Given the description of an element on the screen output the (x, y) to click on. 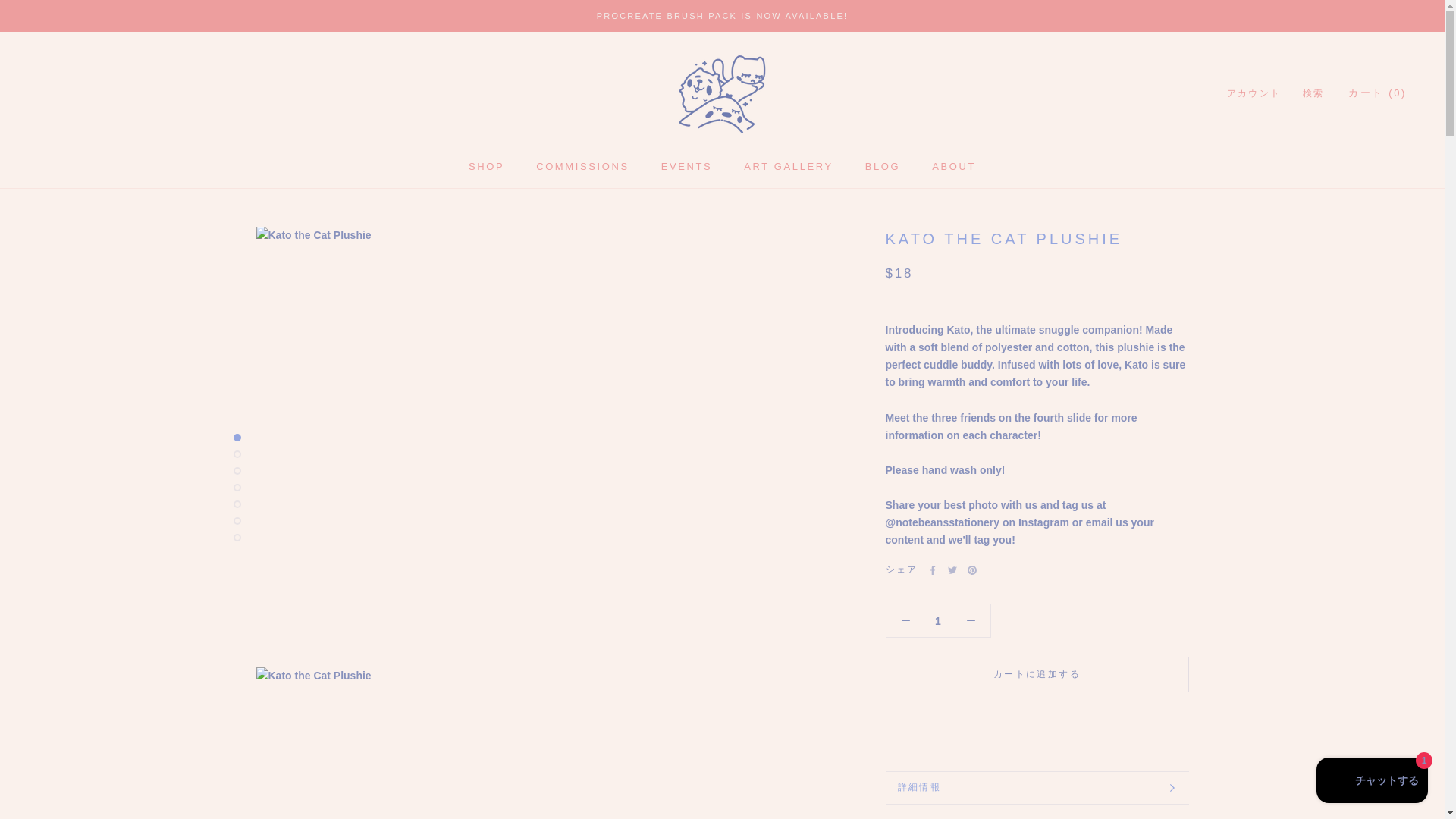
PROCREATE BRUSH PACK IS NOW AVAILABLE! (722, 15)
1 (687, 165)
